Given the description of an element on the screen output the (x, y) to click on. 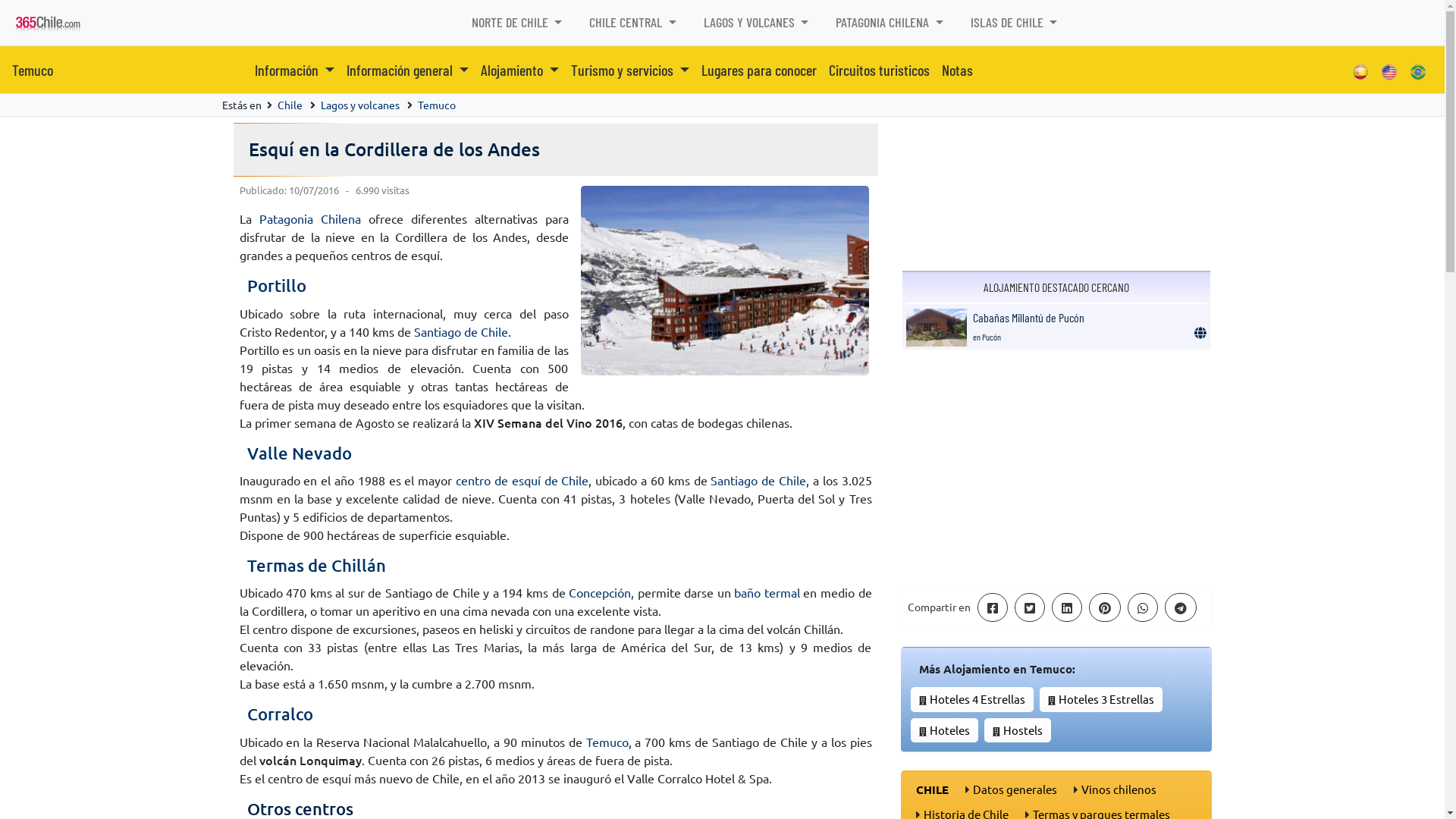
Vinos chilenos Element type: text (1118, 788)
Santiago de Chile Element type: text (758, 479)
Turismo y servicios Element type: text (629, 69)
Circuitos turisticos Element type: text (878, 69)
Valle Nevado Element type: text (299, 452)
Datos generales Element type: text (1014, 788)
ISLAS DE CHILE Element type: text (1013, 22)
NORTE DE CHILE Element type: text (516, 22)
Hoteles 4 Estrellas Element type: text (977, 698)
Advertisement Element type: hover (1055, 467)
LAGOS Y VOLCANES Element type: text (756, 22)
Temuco Element type: text (607, 741)
Santiago de Chile Element type: text (461, 330)
Portillo Element type: text (276, 285)
CHILE Element type: text (932, 789)
CHILE CENTRAL Element type: text (632, 22)
Chile Element type: text (289, 104)
Notas Element type: text (957, 69)
Corralco Element type: text (280, 713)
Alojamiento Element type: text (519, 69)
PATAGONIA CHILENA Element type: text (889, 22)
Lugares para conocer Element type: text (758, 69)
Hoteles 3 Estrellas Element type: text (1106, 698)
Hostels Element type: text (1021, 729)
Temuco Element type: text (436, 104)
Hoteles Element type: text (949, 729)
Lagos y volcanes Element type: text (359, 104)
Patagonia Chilena Element type: text (309, 217)
Temuco Element type: text (32, 69)
